Given the description of an element on the screen output the (x, y) to click on. 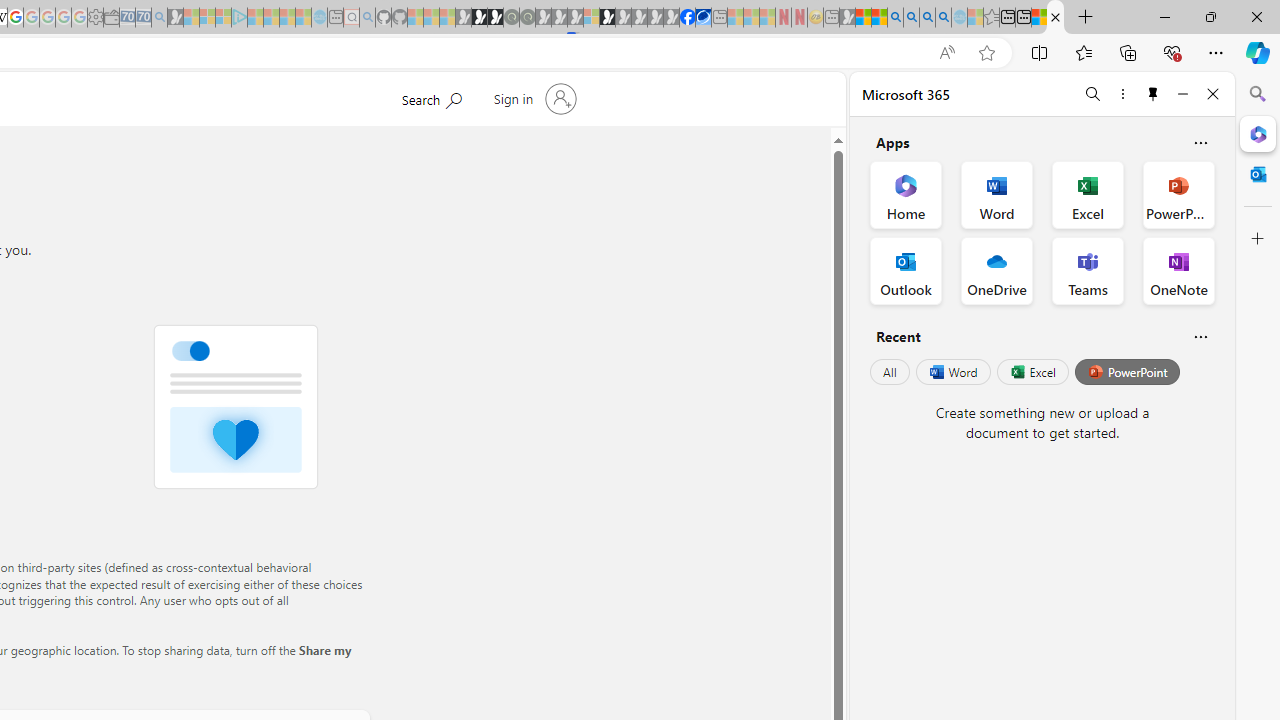
Sign in to your account (532, 98)
PowerPoint (1127, 372)
Teams Office App (1087, 270)
Settings - Sleeping (95, 17)
Nordace | Facebook (687, 17)
Excel (1031, 372)
